Given the description of an element on the screen output the (x, y) to click on. 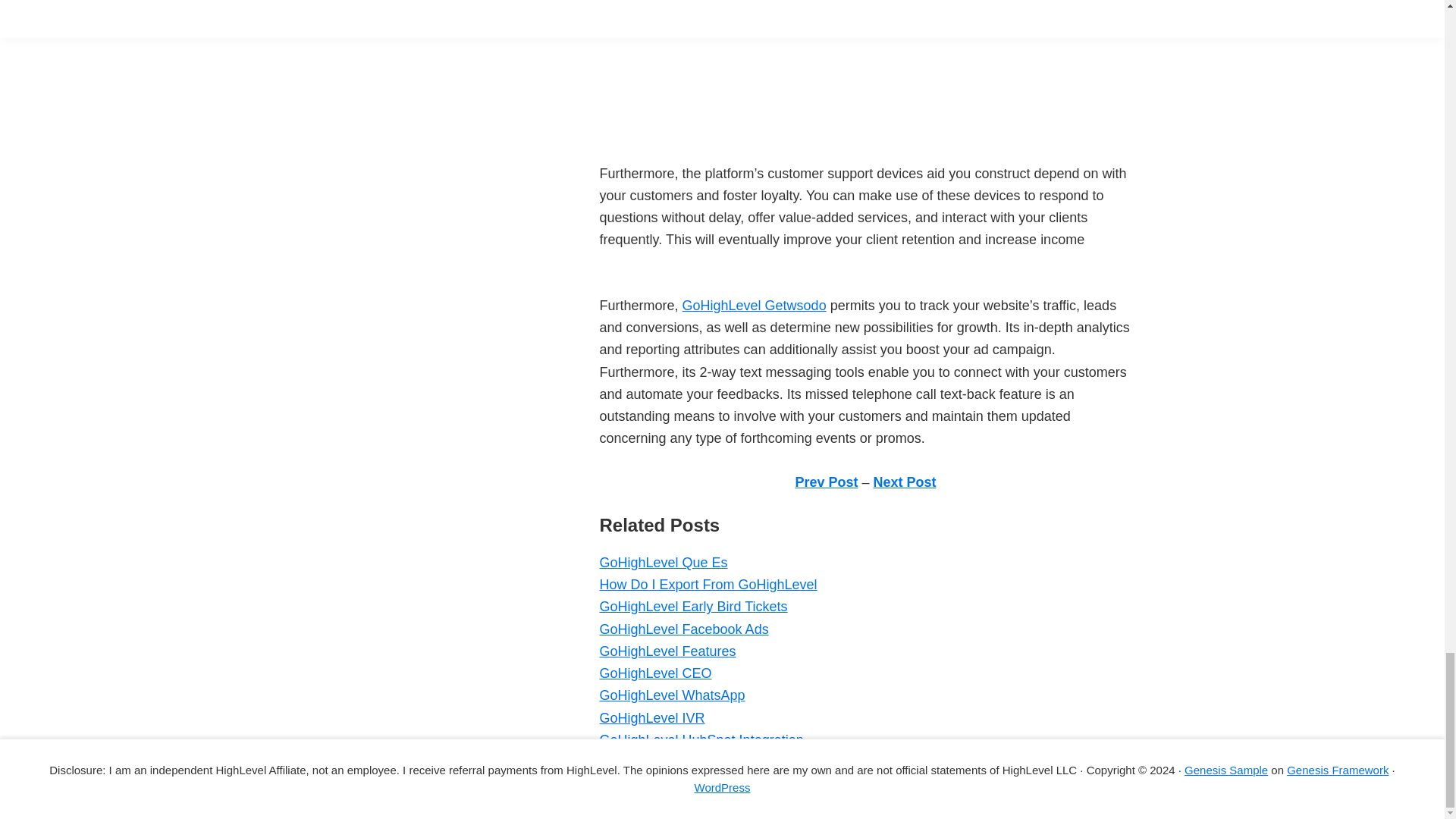
GoHighLevel Features (666, 651)
Next Post (904, 482)
GoHighLevel IVR (651, 717)
GoHighLevel Phone System (684, 761)
GoHighLevel Getwsodo (754, 305)
GoHighLevel Early Bird Tickets (692, 606)
Prev Post (825, 482)
GoHighLevel WhatsApp (671, 694)
How Do I Export From GoHighLevel (707, 584)
GoHighLevel Que Es (662, 562)
